Given the description of an element on the screen output the (x, y) to click on. 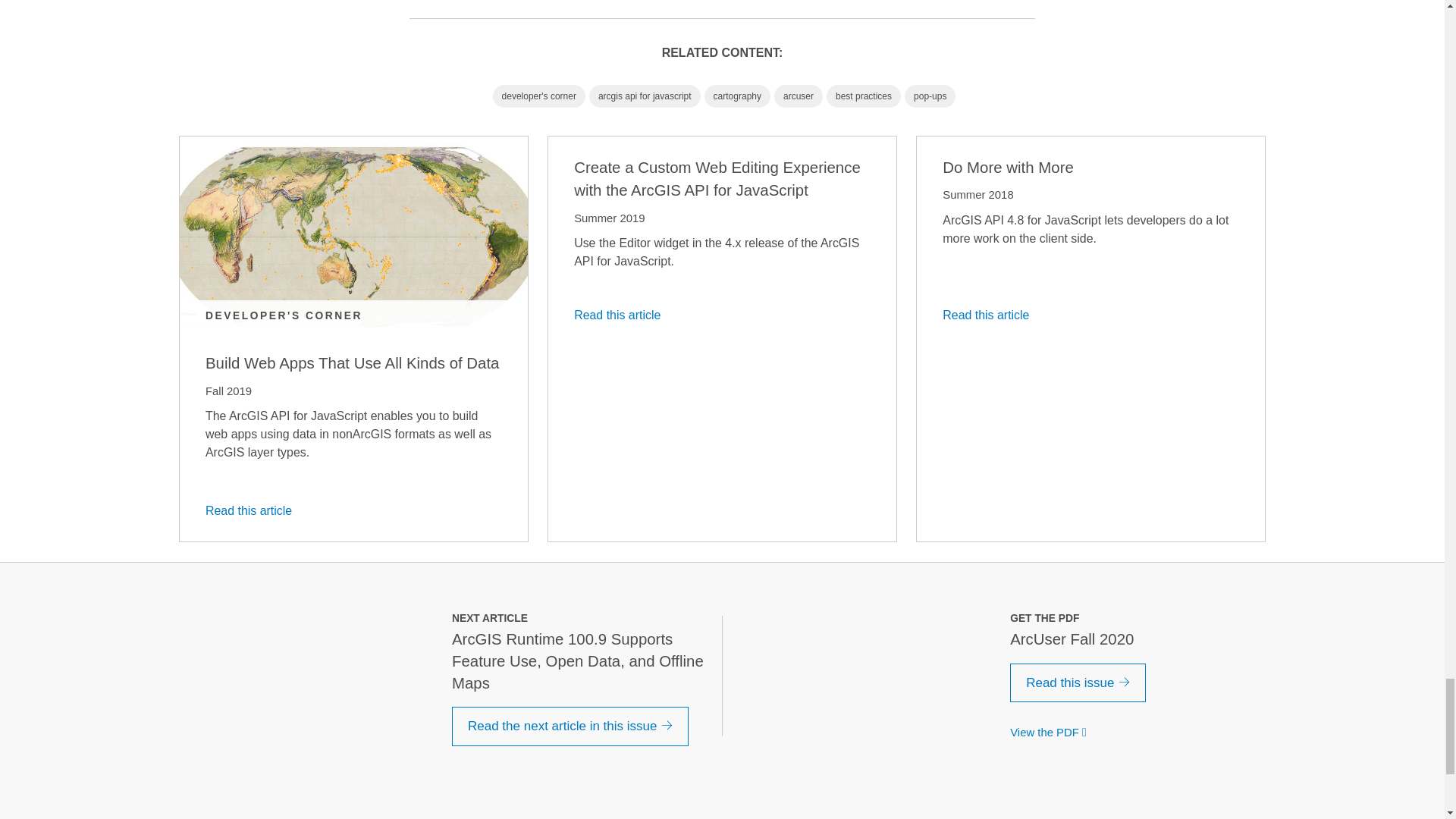
arcuser (798, 96)
arcgis api for javascript (644, 96)
pop-ups (929, 96)
developer's corner (539, 96)
Read this issue (1077, 682)
Read this article (990, 314)
best practices (864, 96)
cartography (737, 96)
Read this article (621, 314)
Read this article (253, 510)
